Given the description of an element on the screen output the (x, y) to click on. 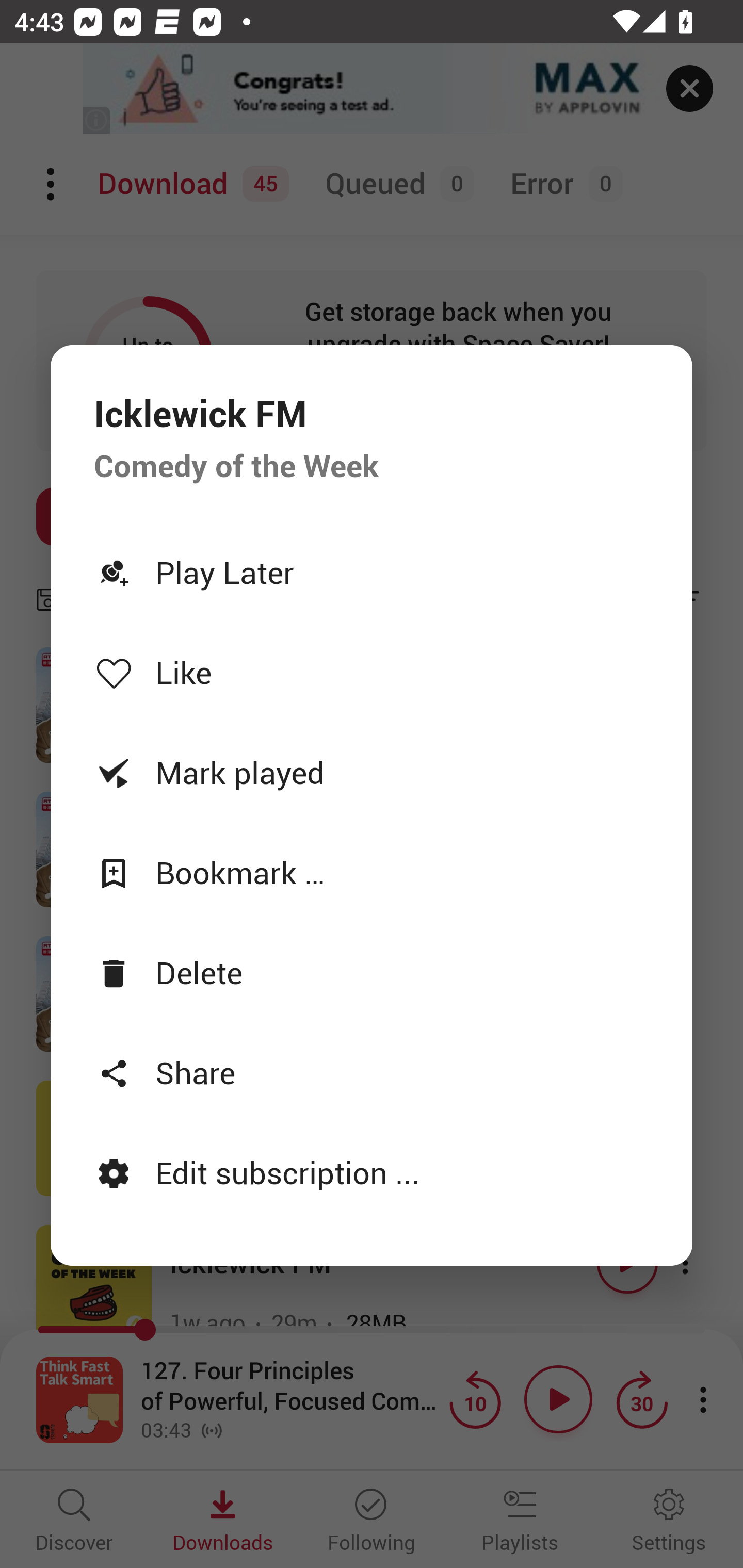
Play Later (371, 572)
Like (371, 672)
Mark played (371, 771)
Bookmark … (371, 871)
Delete (371, 971)
Share (371, 1072)
Edit subscription ... (371, 1172)
